Given the description of an element on the screen output the (x, y) to click on. 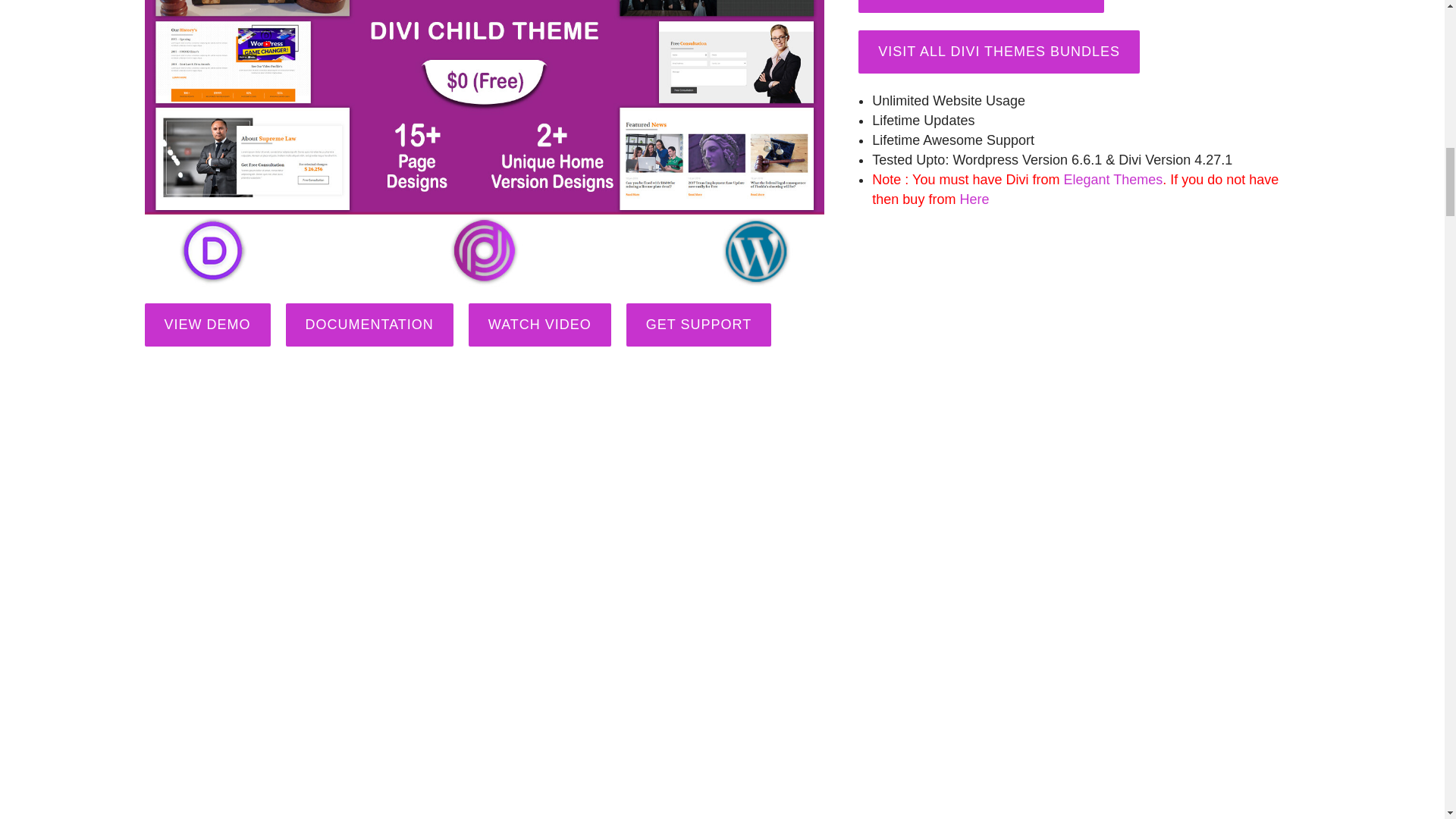
WATCH VIDEO (539, 324)
VIEW DEMO (206, 324)
Here (973, 199)
Elegant Themes (1111, 179)
DOCUMENTATION (368, 324)
GET SUPPORT (698, 324)
GET LIFETIME MEMBERSHIP (981, 6)
VISIT ALL DIVI THEMES BUNDLES (999, 51)
